Given the description of an element on the screen output the (x, y) to click on. 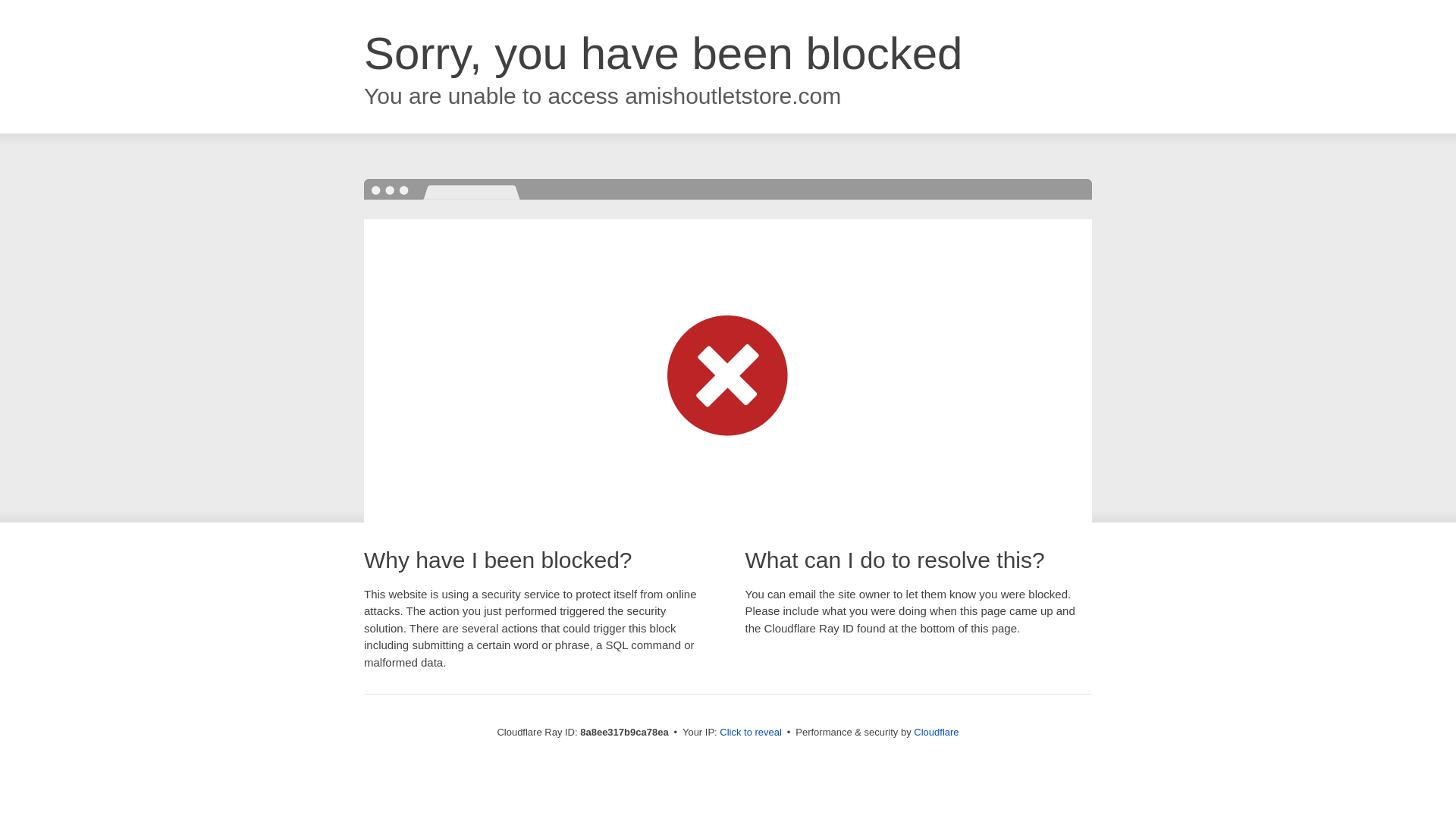
Cloudflare (936, 731)
Click to reveal (750, 732)
